Given the description of an element on the screen output the (x, y) to click on. 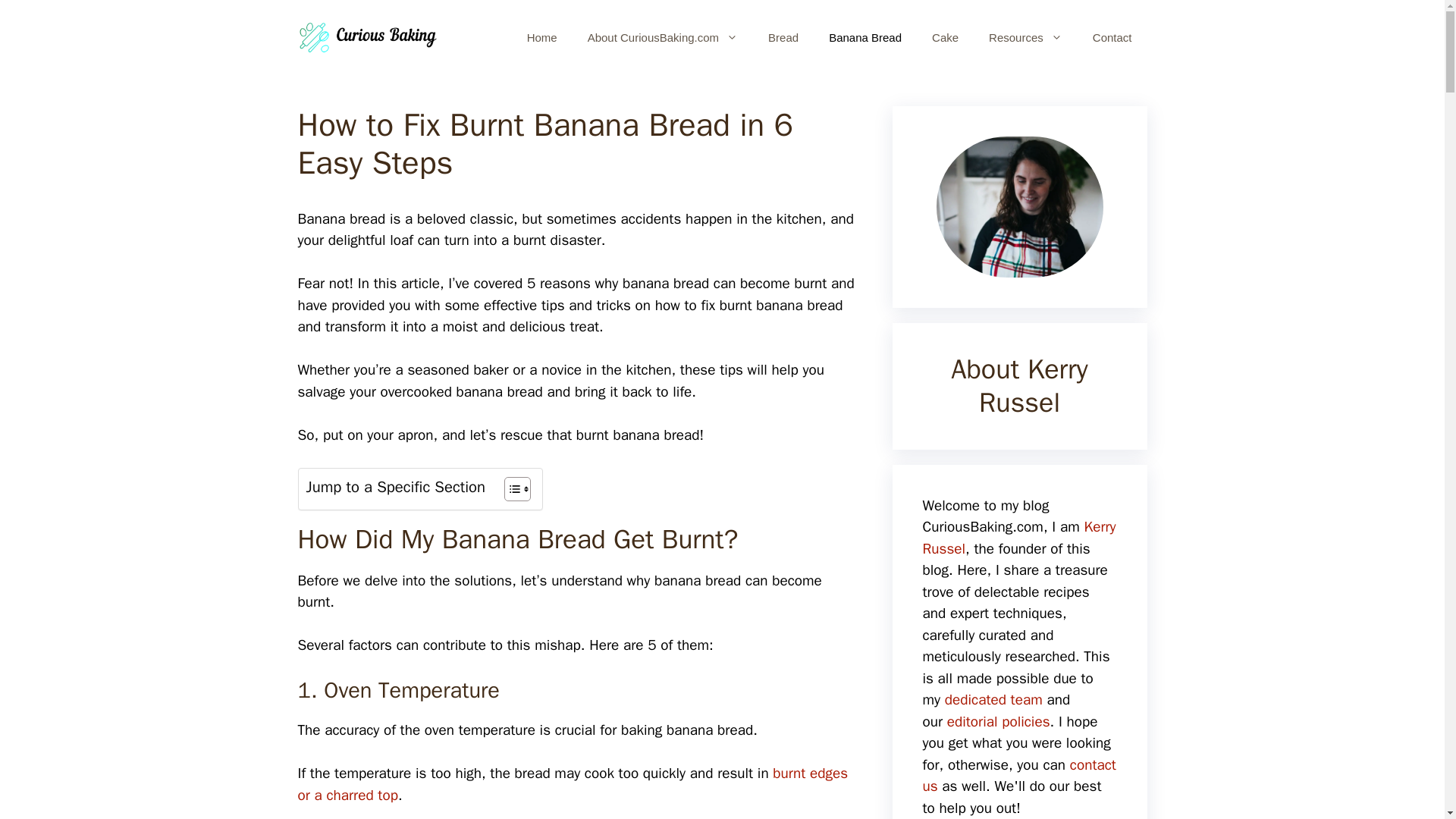
burnt edges or a charred top (572, 784)
Home (542, 37)
About CuriousBaking.com (662, 37)
Banana Bread (865, 37)
Cake (945, 37)
Resources (1025, 37)
Bread (782, 37)
Contact (1112, 37)
